Given the description of an element on the screen output the (x, y) to click on. 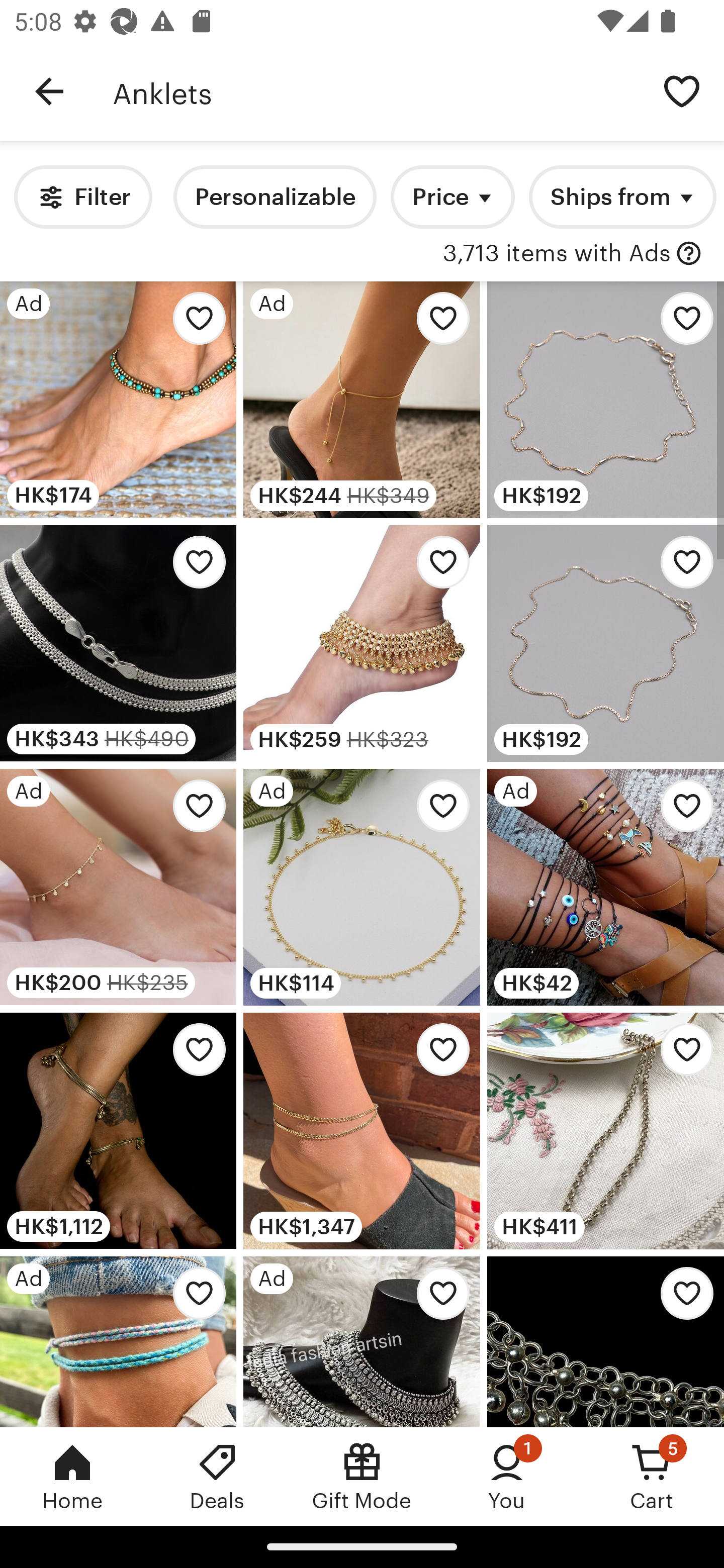
Navigate up (49, 91)
Save search (681, 90)
Anklets (375, 91)
Filter (82, 197)
Personalizable (274, 197)
Price (452, 197)
Ships from (622, 197)
3,713 items with Ads (557, 253)
with Ads (688, 253)
Add Vintage Silvertone chain anklet to favorites (681, 1297)
Deals (216, 1475)
Gift Mode (361, 1475)
You, 1 new notification You (506, 1475)
Cart, 5 new notifications Cart (651, 1475)
